Given the description of an element on the screen output the (x, y) to click on. 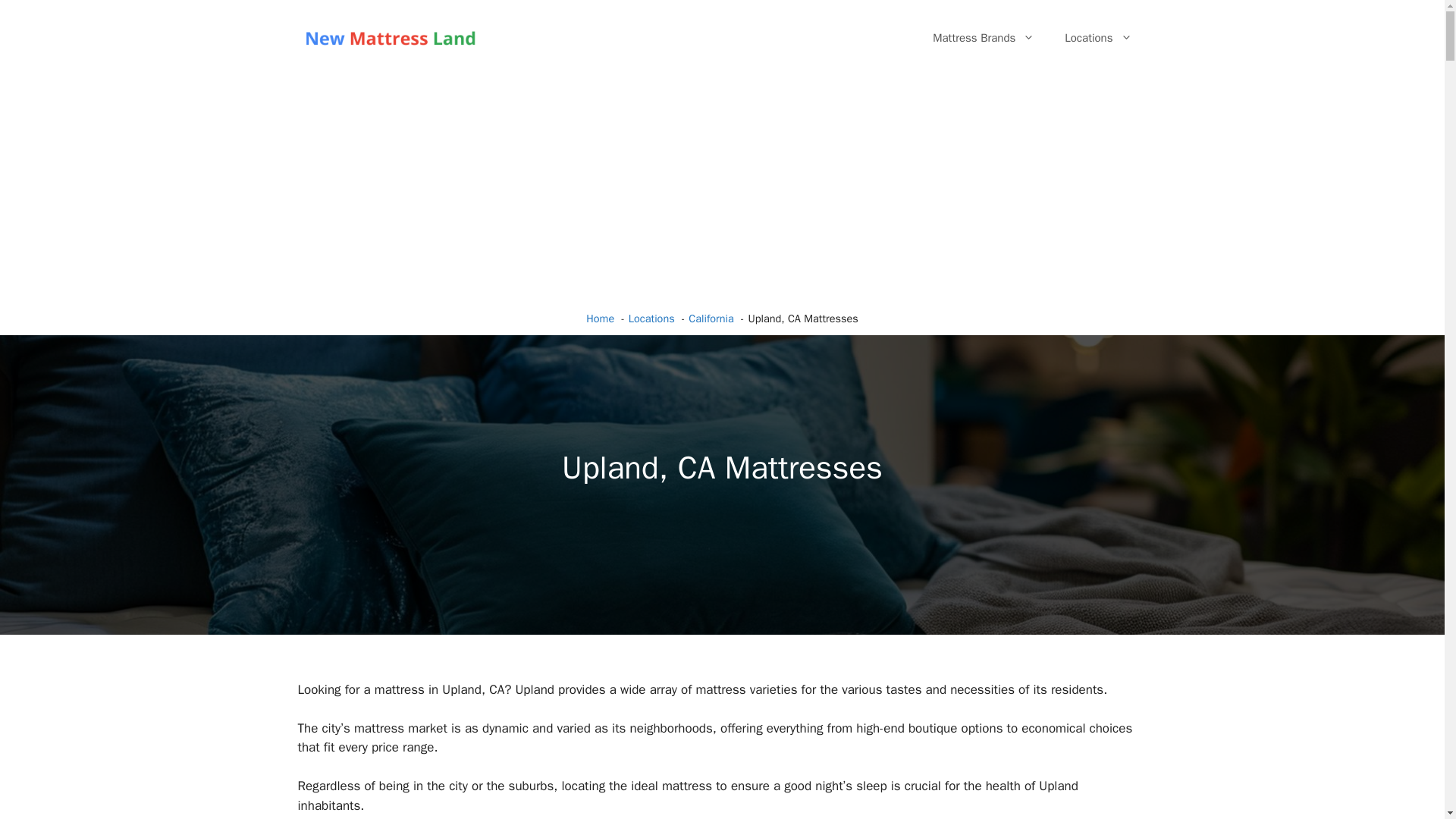
Locations (1098, 37)
Mattress Brands (983, 37)
Home (600, 318)
Locations (651, 318)
California (710, 318)
